Given the description of an element on the screen output the (x, y) to click on. 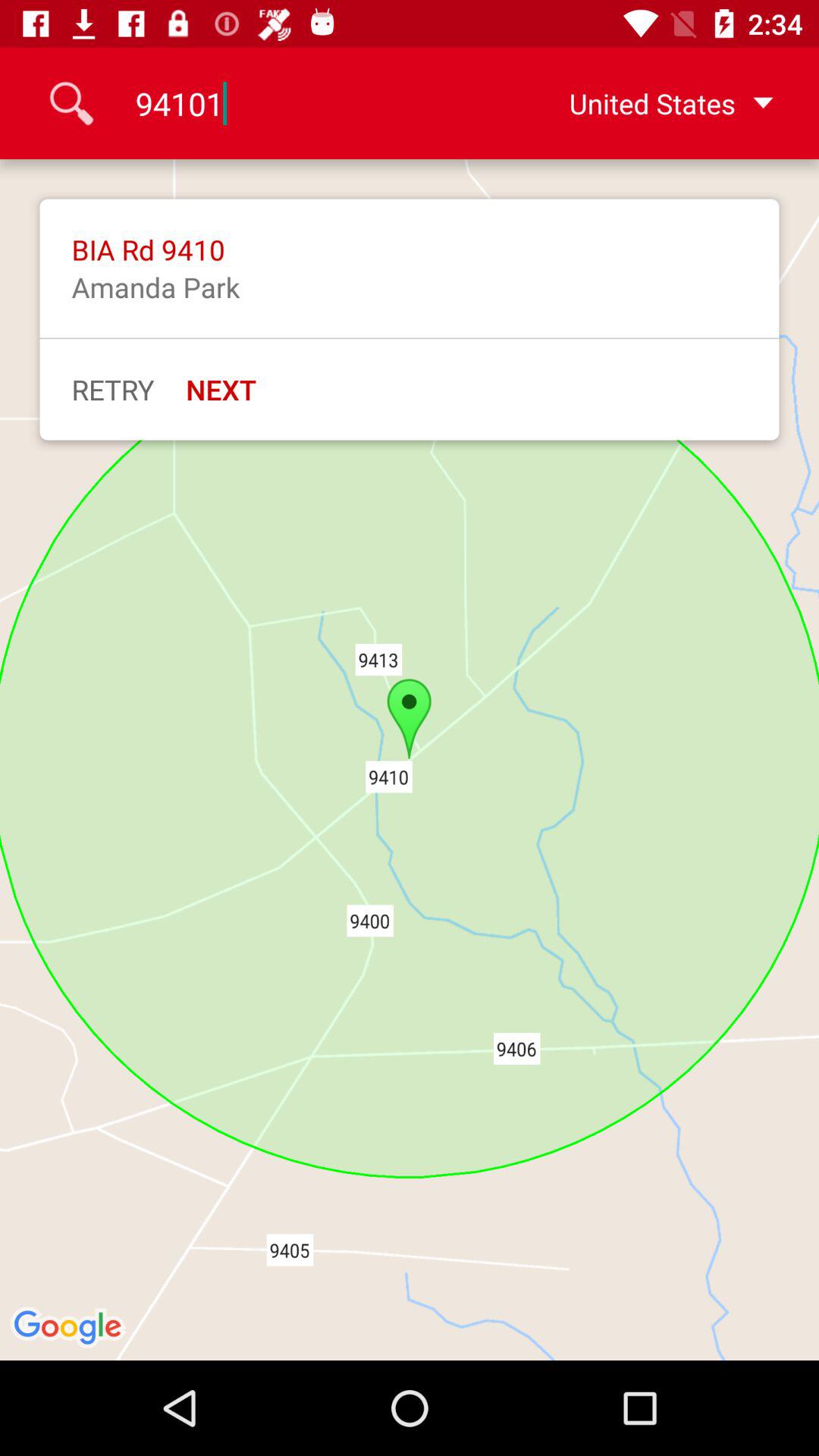
jump until the united states (647, 103)
